Given the description of an element on the screen output the (x, y) to click on. 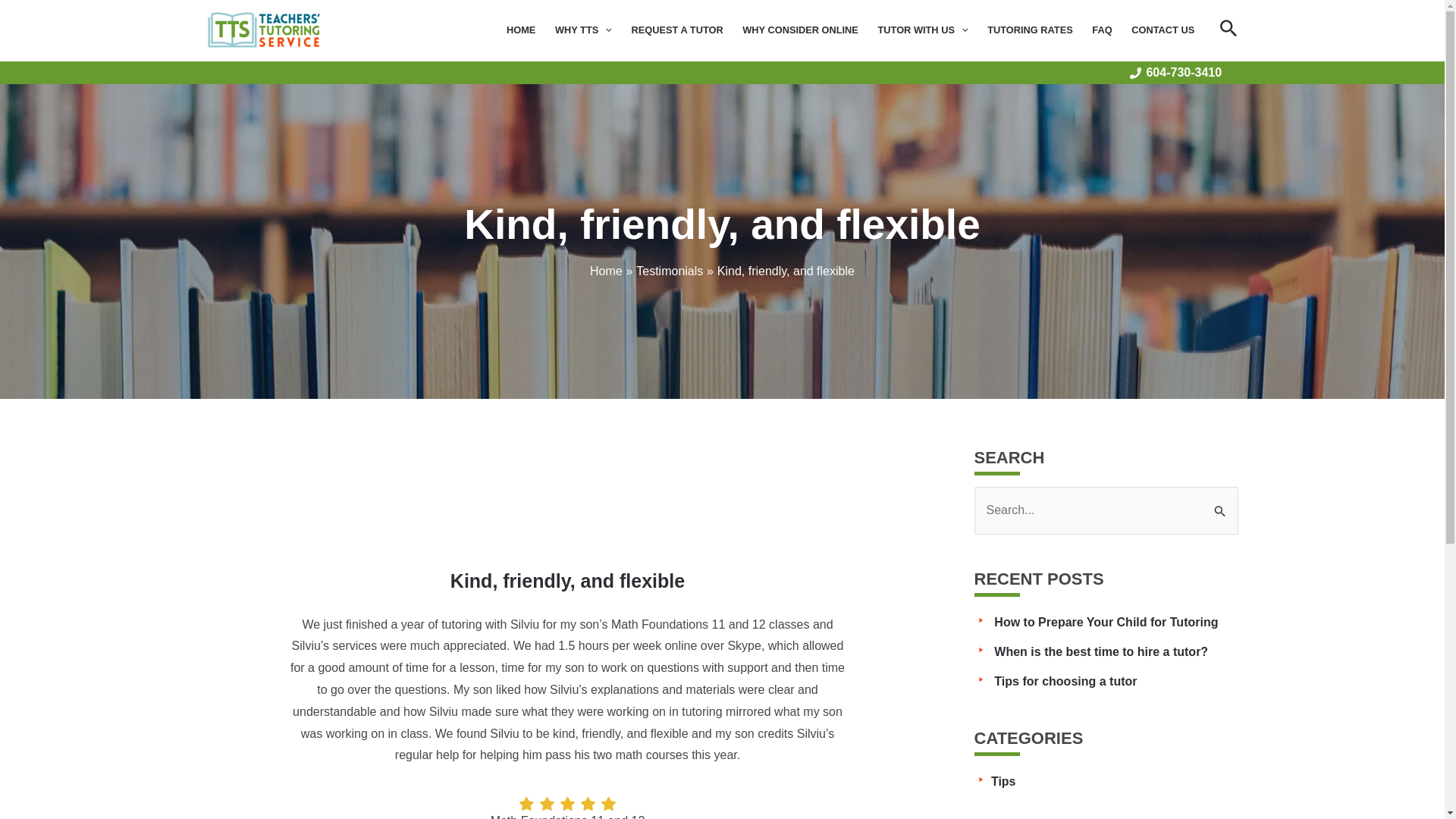
WHY TTS (582, 30)
WHY CONSIDER ONLINE (799, 30)
TUTOR WITH US (922, 30)
CONTACT US (1162, 30)
TUTORING RATES (1028, 30)
604-730-3410 (1175, 72)
Search (1221, 502)
REQUEST A TUTOR (677, 30)
Search (1221, 502)
HOME (520, 30)
